Given the description of an element on the screen output the (x, y) to click on. 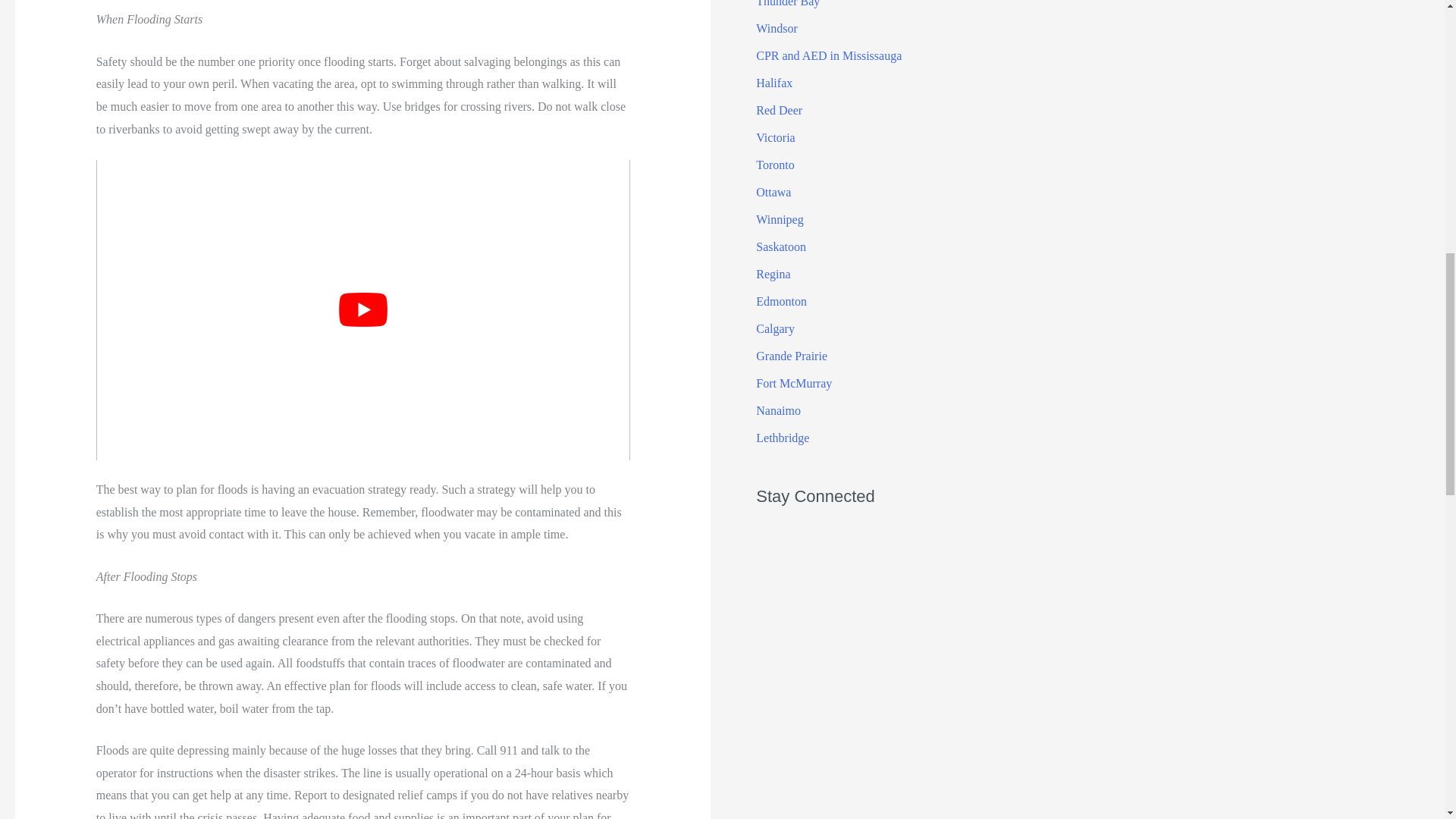
CPR and AED in Nanaimo (777, 410)
CPR and AED in Lethbridge (782, 437)
CPR and AED in Fort McMurray (793, 382)
CPR and AED in Grande Prairie (791, 355)
